Given the description of an element on the screen output the (x, y) to click on. 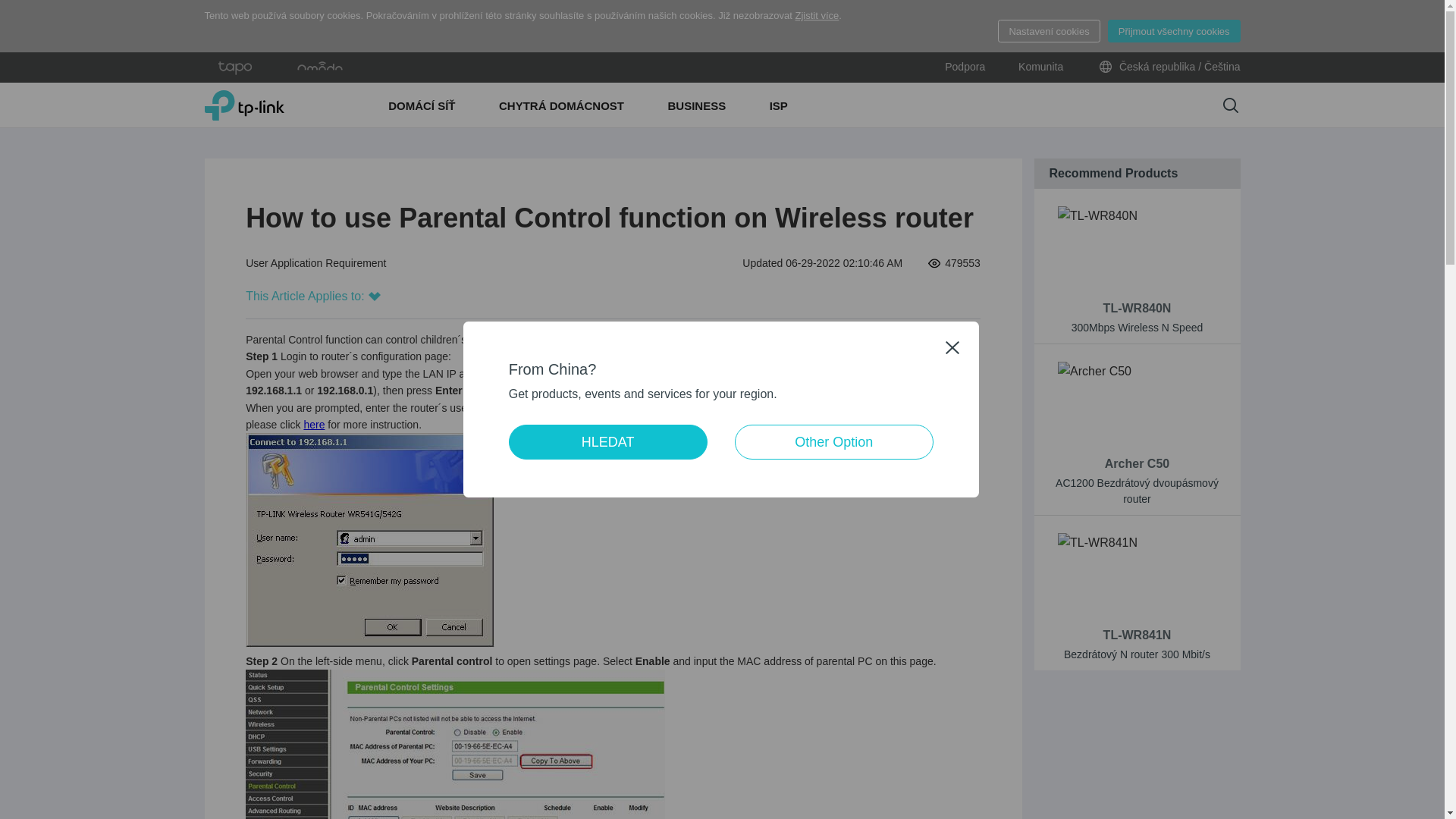
tapo (234, 67)
TP-Link, Reliably Smart (244, 105)
Komunita (1039, 67)
Search (1230, 105)
omada (319, 67)
Podpora (964, 67)
